Given the description of an element on the screen output the (x, y) to click on. 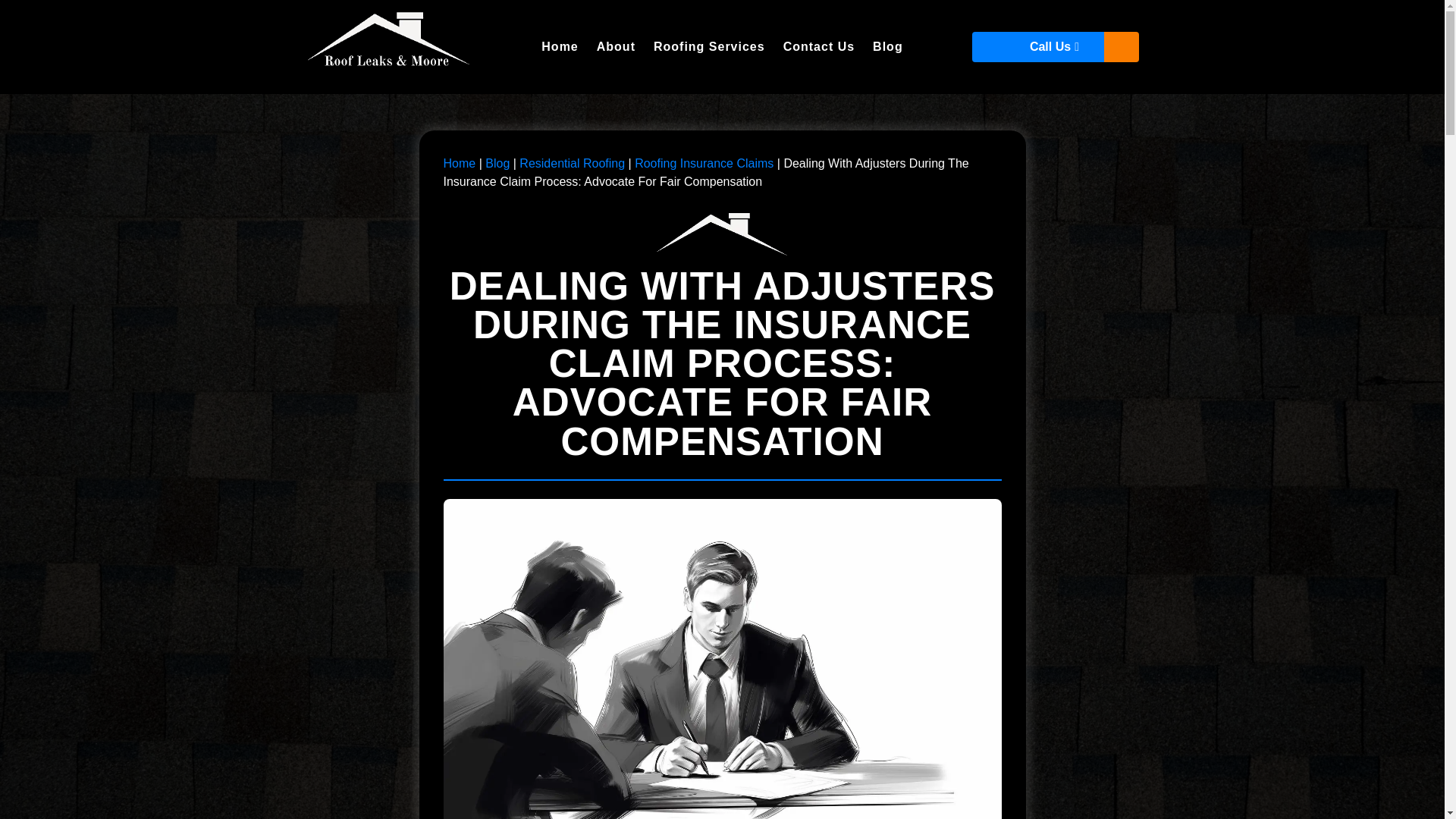
Blog (496, 163)
Roofing Insurance Claims (703, 163)
Contact Us (818, 46)
Roofing Insurance Claims (703, 163)
Blog (496, 163)
Residential Roofing (571, 163)
Residential Roofing (571, 163)
About (615, 46)
Blog (887, 46)
Home (559, 46)
